Given the description of an element on the screen output the (x, y) to click on. 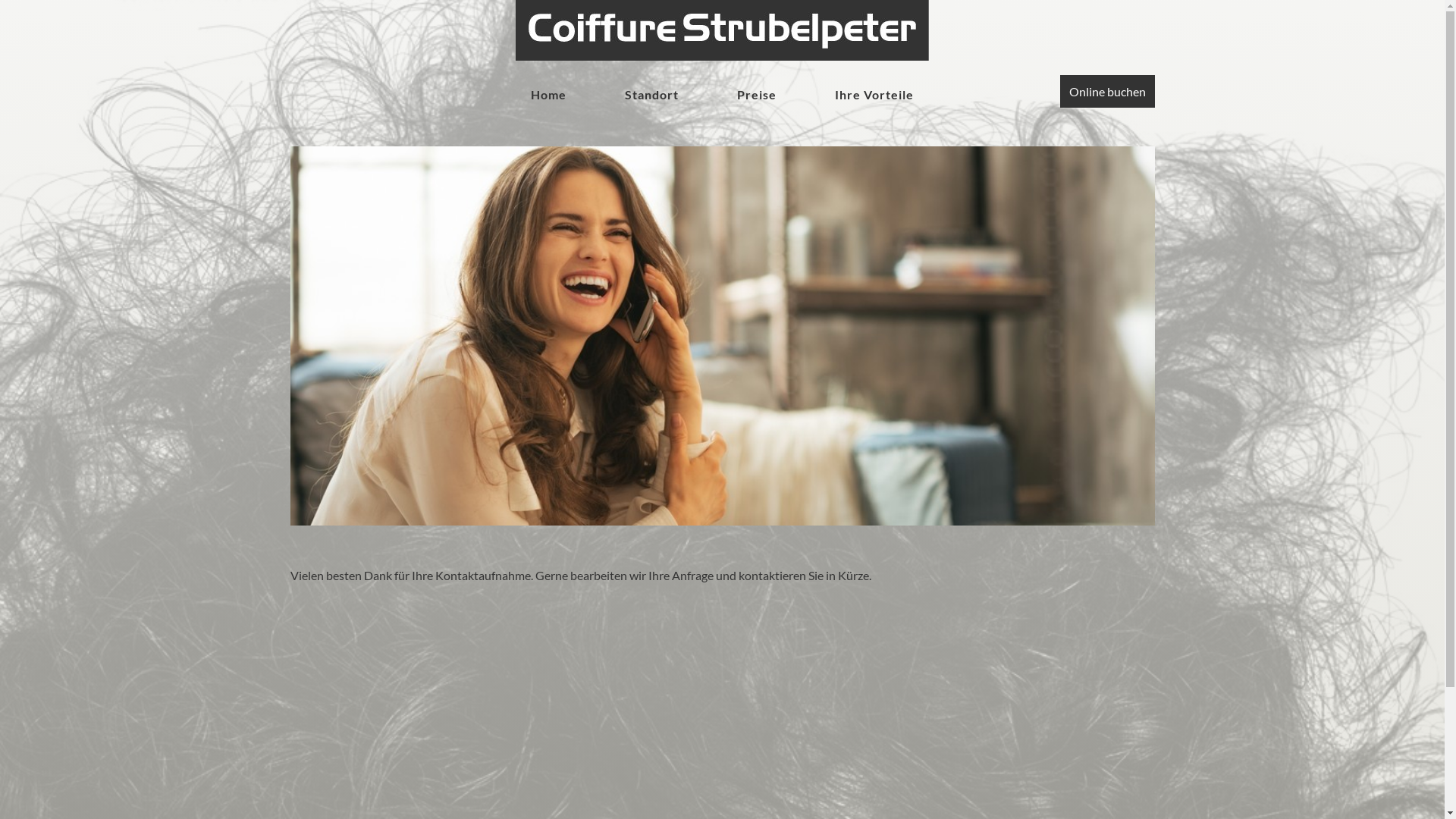
Online buchen Element type: text (1107, 91)
Home Element type: text (548, 94)
Standort Element type: text (651, 94)
Ihre Vorteile Element type: text (874, 94)
Preise Element type: text (756, 94)
